Given the description of an element on the screen output the (x, y) to click on. 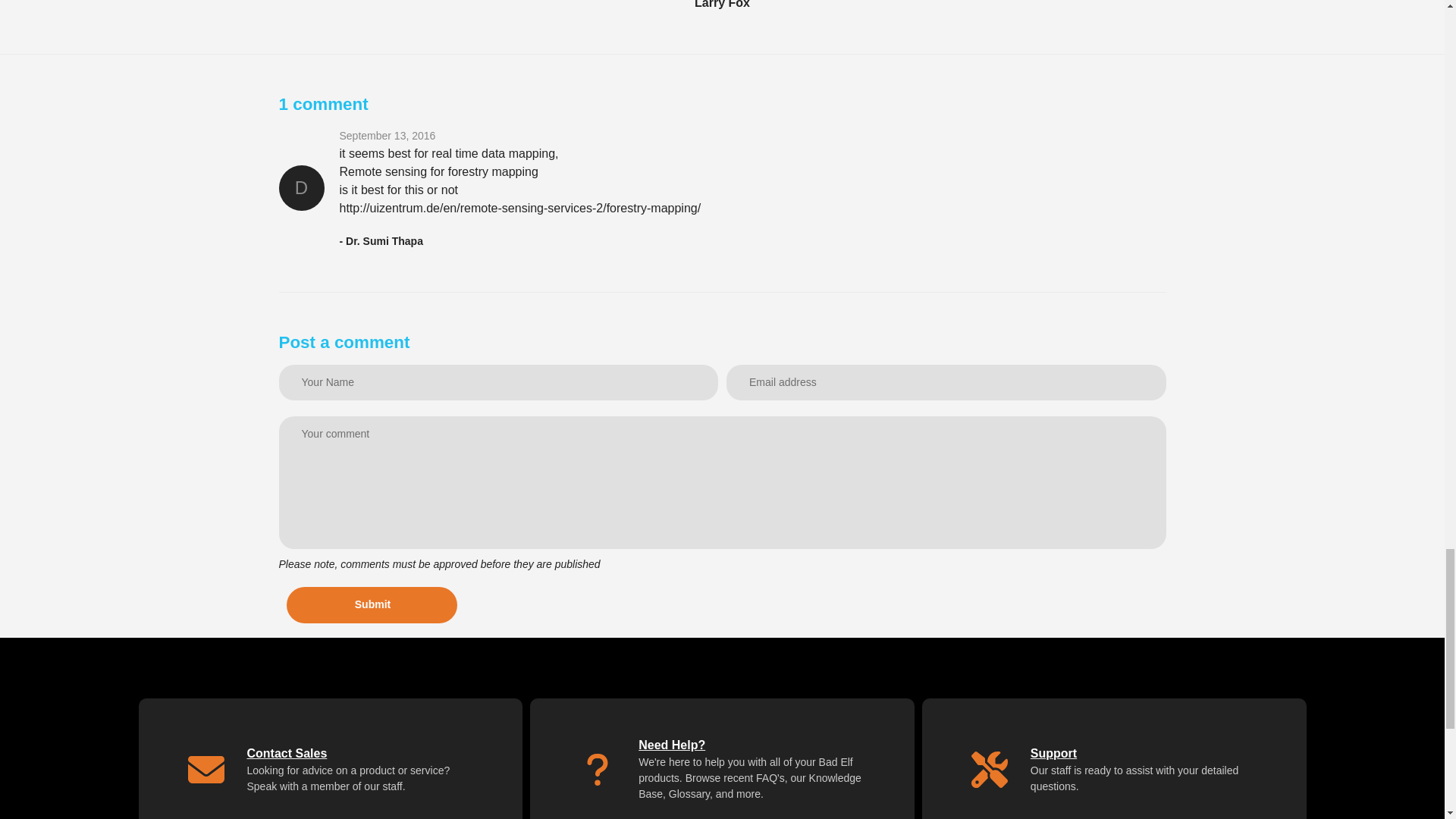
Need Help? (671, 744)
Submit (371, 605)
Contact Sales (287, 753)
Support (1053, 753)
